Given the description of an element on the screen output the (x, y) to click on. 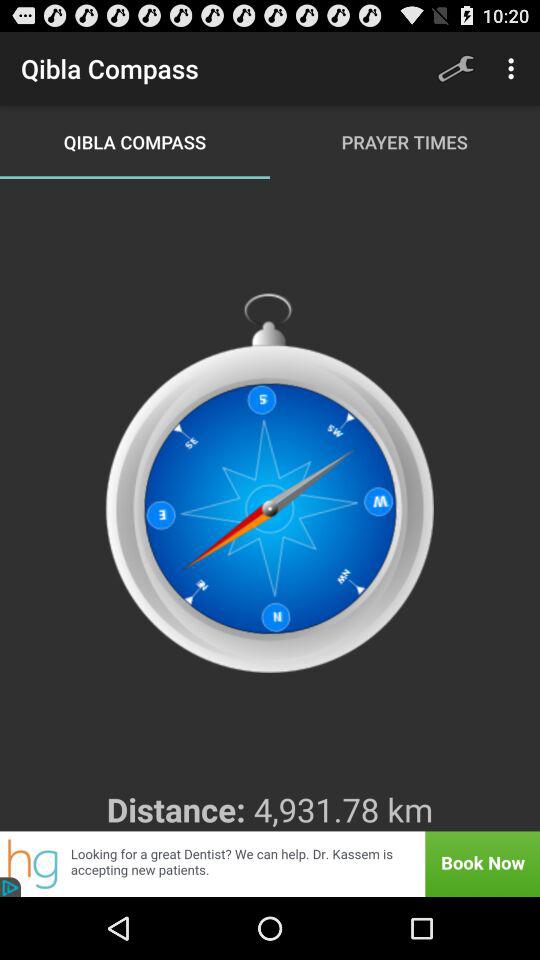
open the icon above the prayer times item (455, 67)
